Given the description of an element on the screen output the (x, y) to click on. 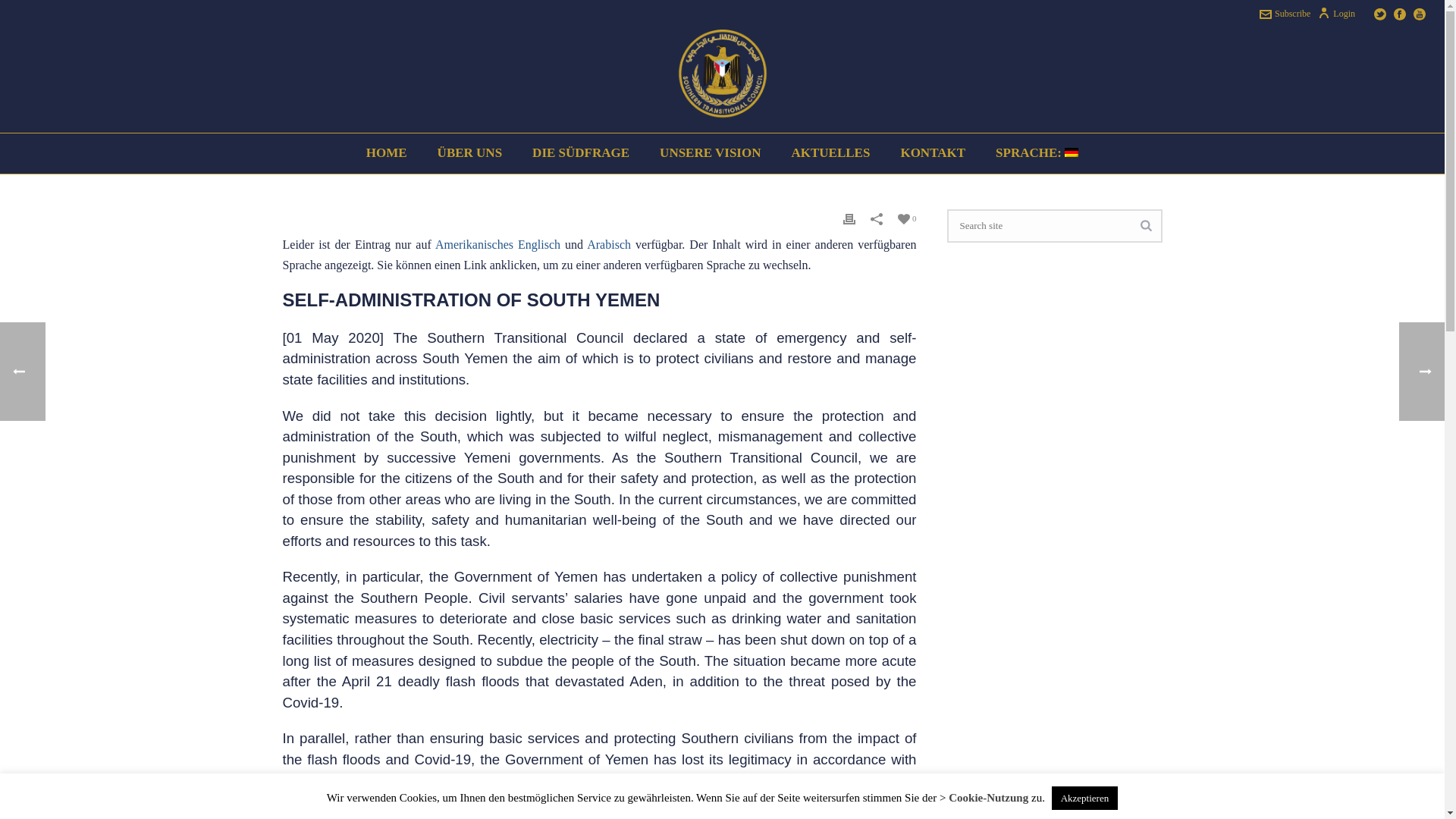
HOME (386, 153)
Login (1336, 13)
Deutsch (1036, 153)
SPRACHE:  (1036, 153)
AKTUELLES (830, 153)
KONTAKT (932, 153)
stc-eu.org (721, 79)
SPRACHE:  (1036, 153)
HOME (386, 153)
UNSERE VISION (710, 153)
